Given the description of an element on the screen output the (x, y) to click on. 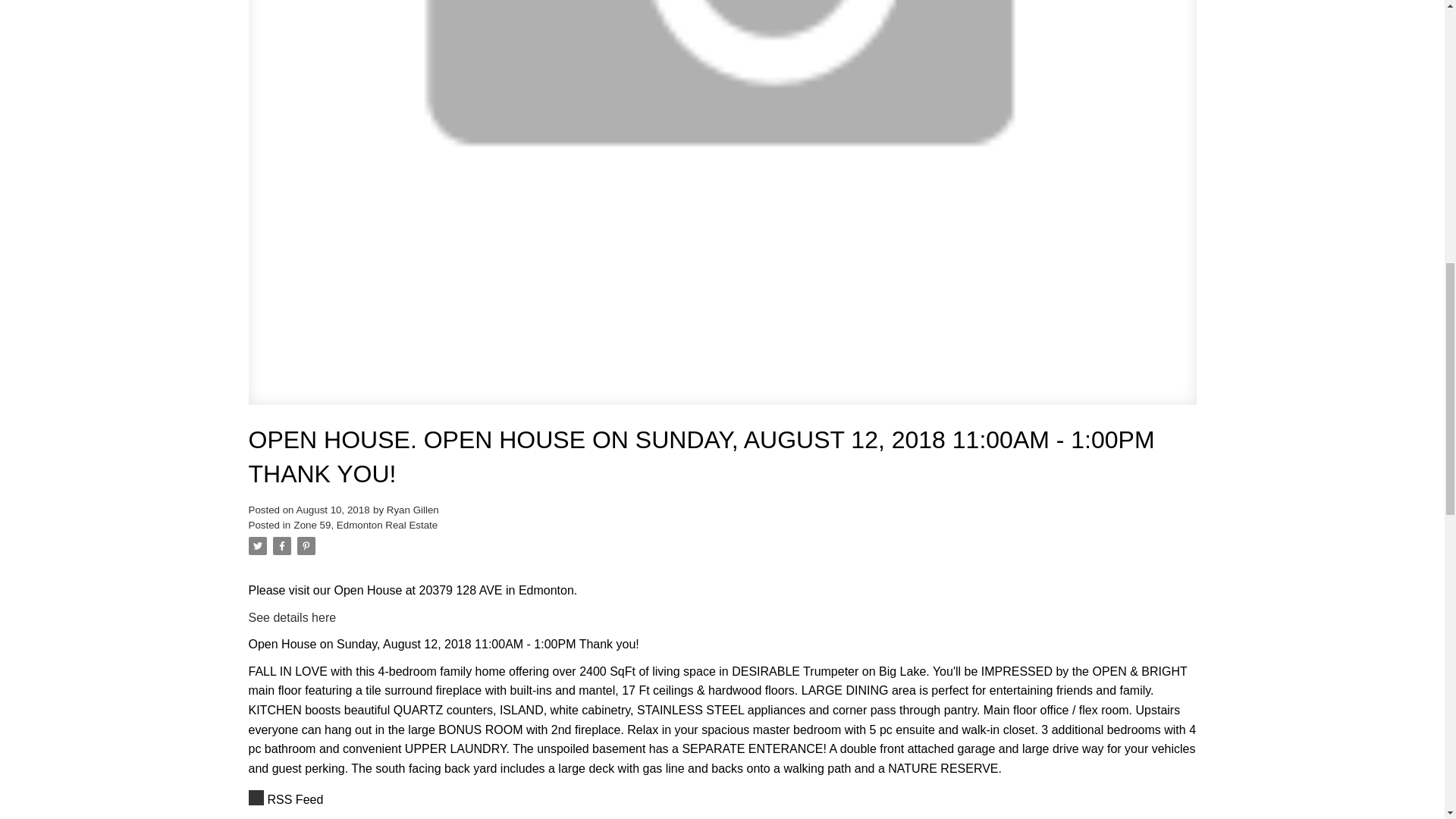
See details here (292, 617)
RSS (722, 799)
Zone 59, Edmonton Real Estate (366, 524)
